Given the description of an element on the screen output the (x, y) to click on. 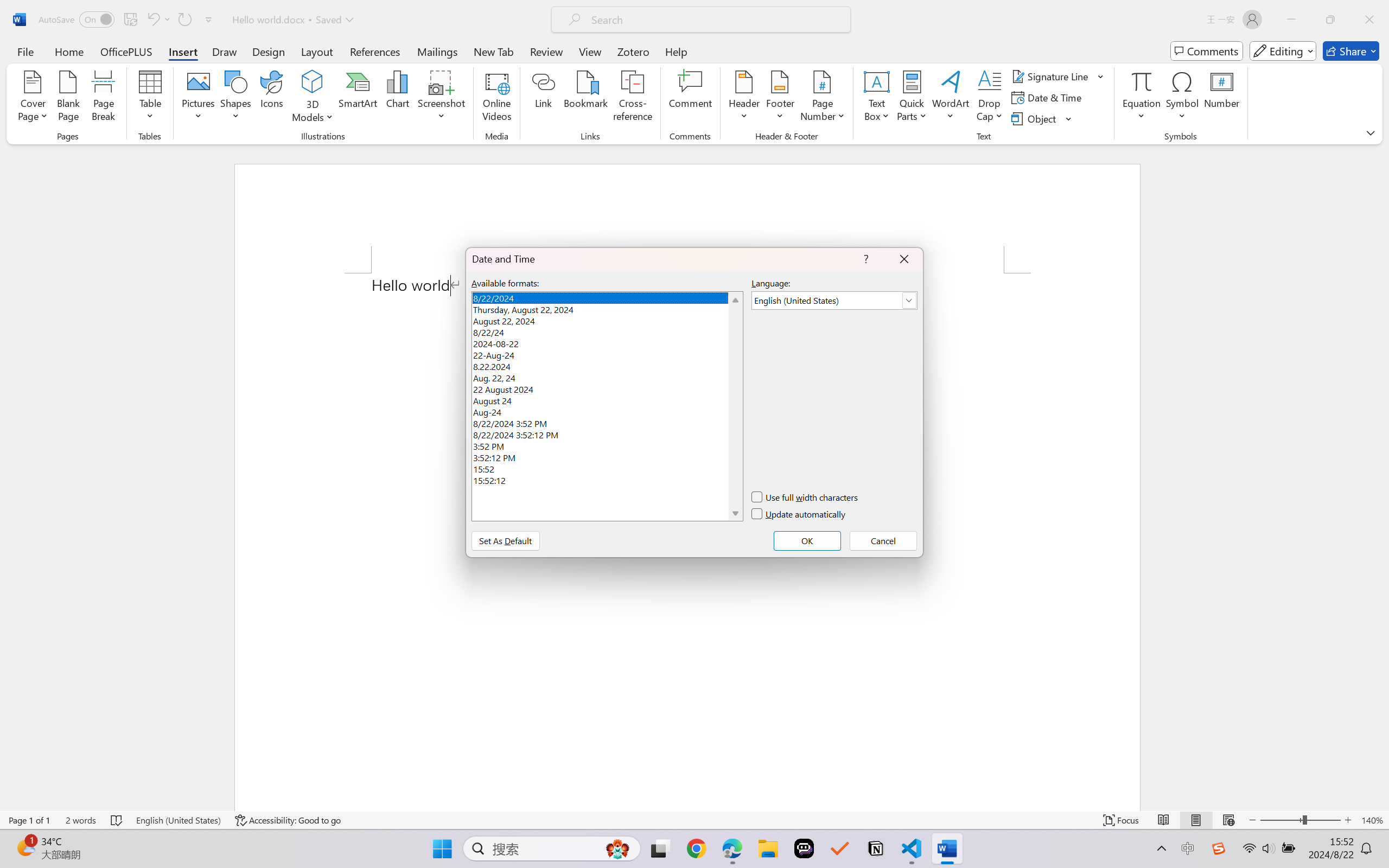
AutomationID: BadgeAnchorLargeTicker (24, 847)
Design (268, 51)
Can't Undo (158, 19)
8/22/24 (606, 330)
Cancel (883, 540)
Close (1369, 19)
Signature Line (1058, 75)
Class: Image (1218, 847)
Zoom Out (1280, 819)
Screenshot (441, 97)
Shapes (235, 97)
Zotero (632, 51)
